Given the description of an element on the screen output the (x, y) to click on. 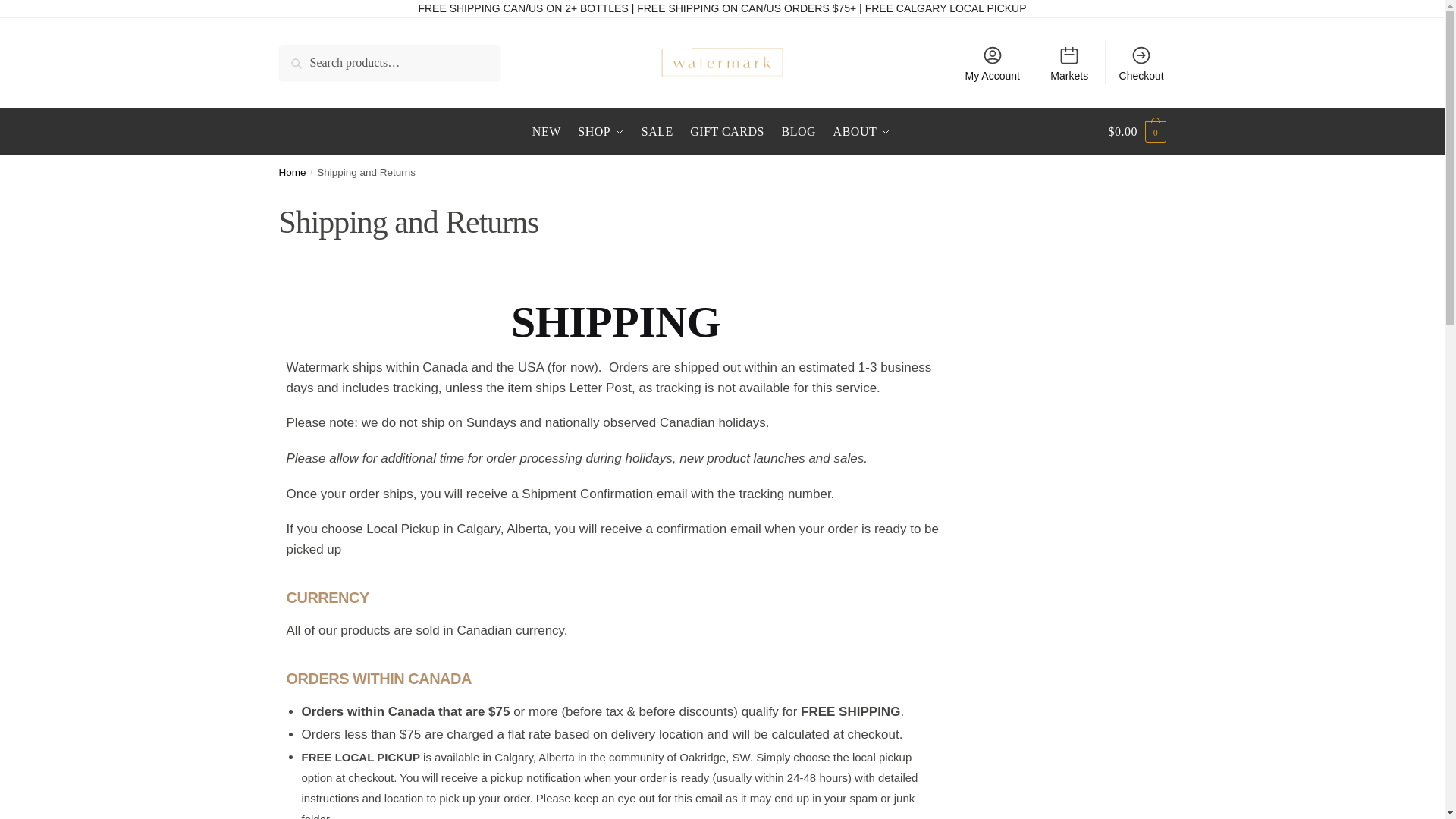
Search (300, 55)
Checkout (1141, 62)
Markets (1069, 62)
My Account (992, 62)
SHOP (601, 131)
View your shopping cart (1137, 131)
